Given the description of an element on the screen output the (x, y) to click on. 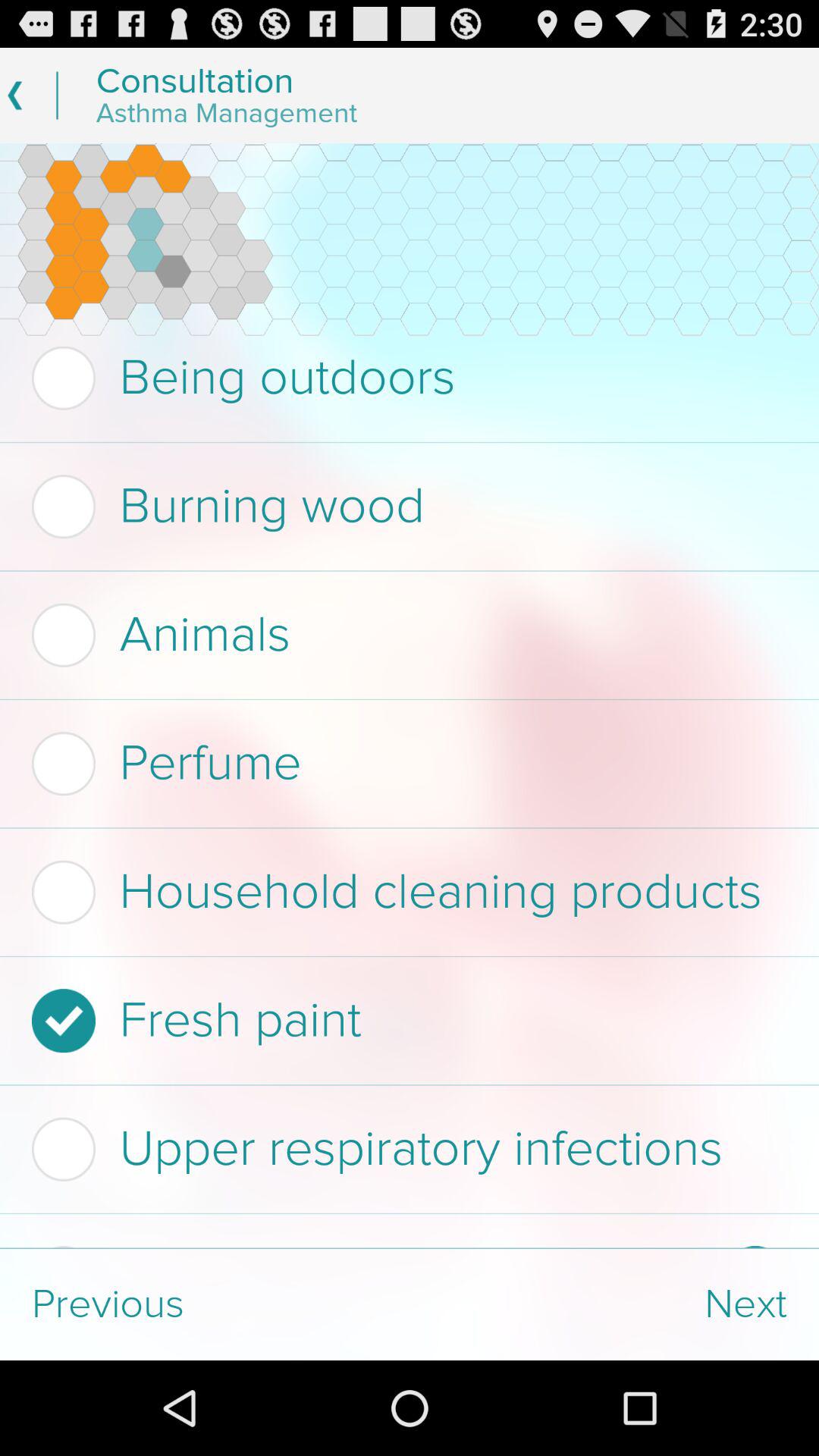
tap the fresh paint item (405, 1020)
